Given the description of an element on the screen output the (x, y) to click on. 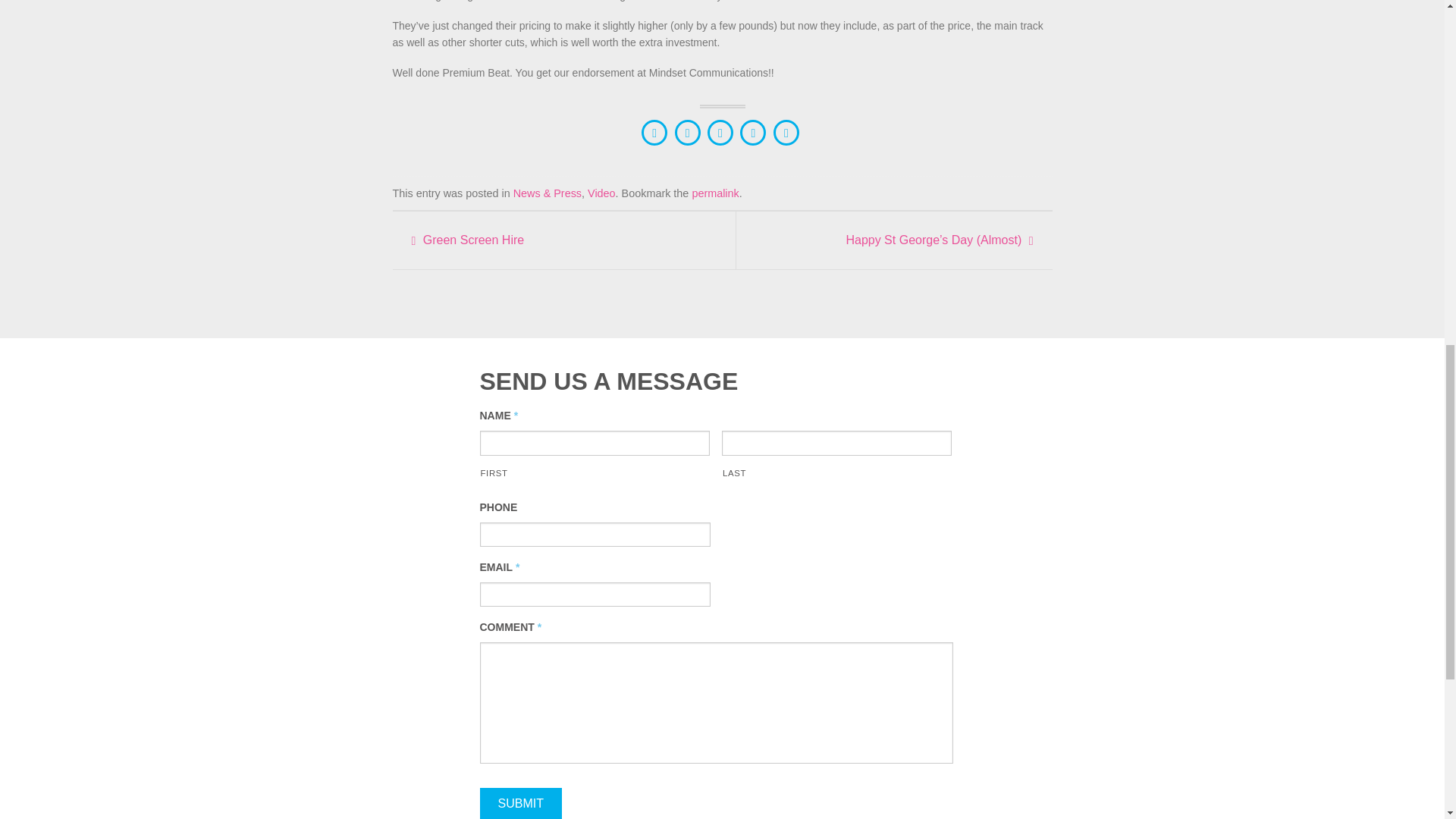
Green Screen Hire (551, 240)
Share on Facebook (654, 132)
Email to a Friend (720, 132)
permalink (714, 193)
Permalink to Great Royalty Free Music Library (714, 193)
Submit (519, 803)
Submit (519, 803)
Pin on Pinterest (752, 132)
Share on Twitter (687, 132)
Video (601, 193)
